Given the description of an element on the screen output the (x, y) to click on. 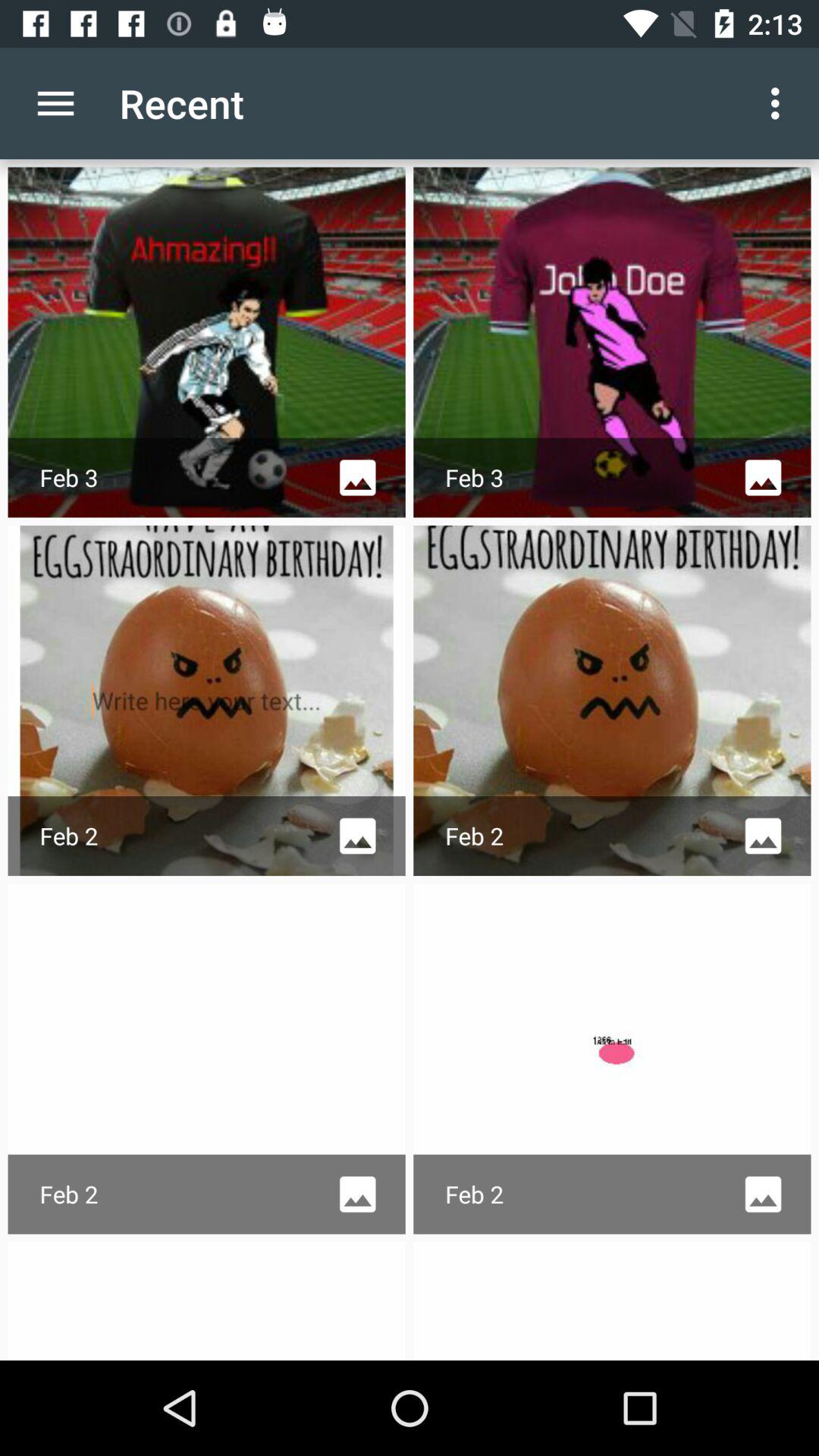
click on the image which is at bottom left corner (206, 1058)
